Given the description of an element on the screen output the (x, y) to click on. 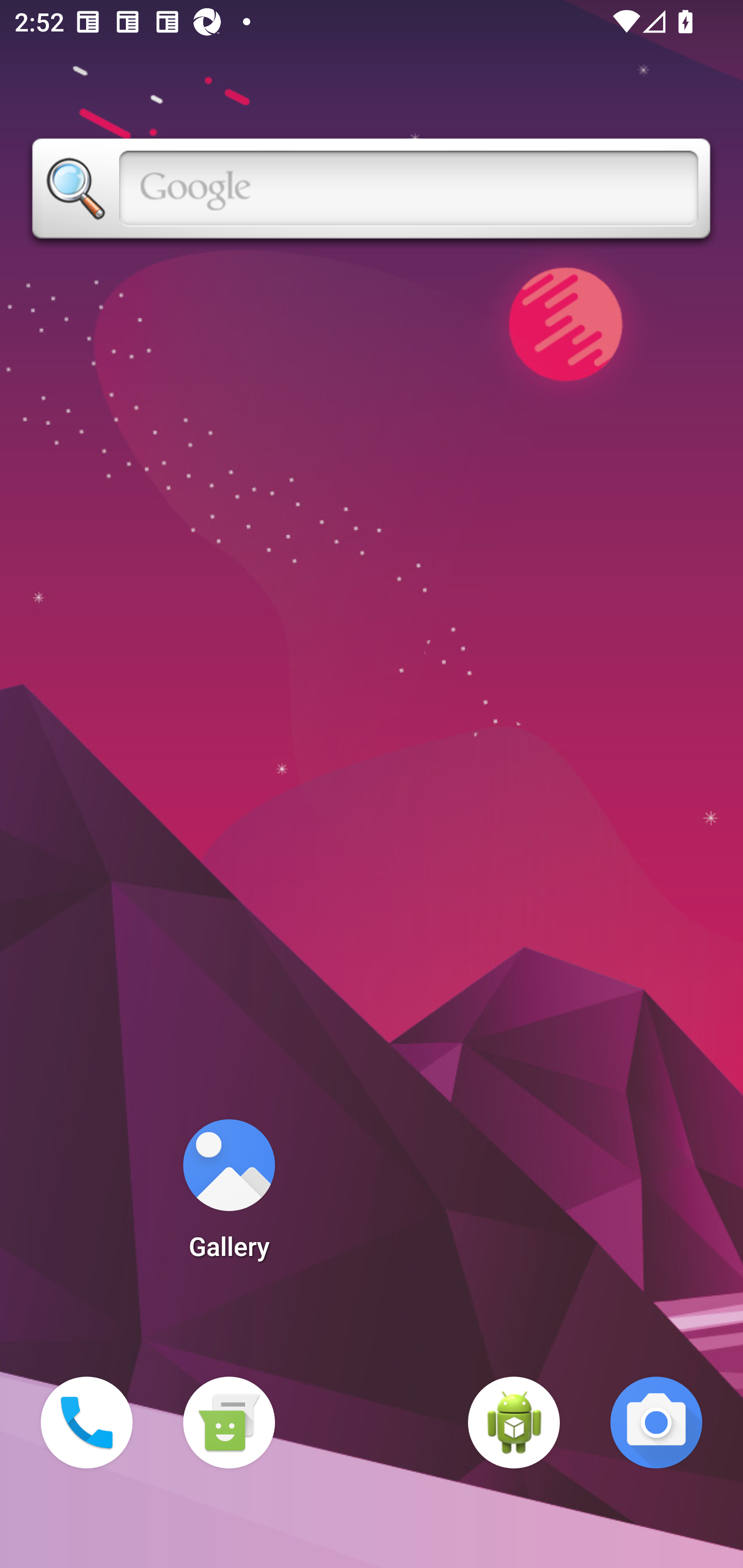
Gallery (228, 1195)
Phone (86, 1422)
Messaging (228, 1422)
WebView Browser Tester (513, 1422)
Camera (656, 1422)
